Given the description of an element on the screen output the (x, y) to click on. 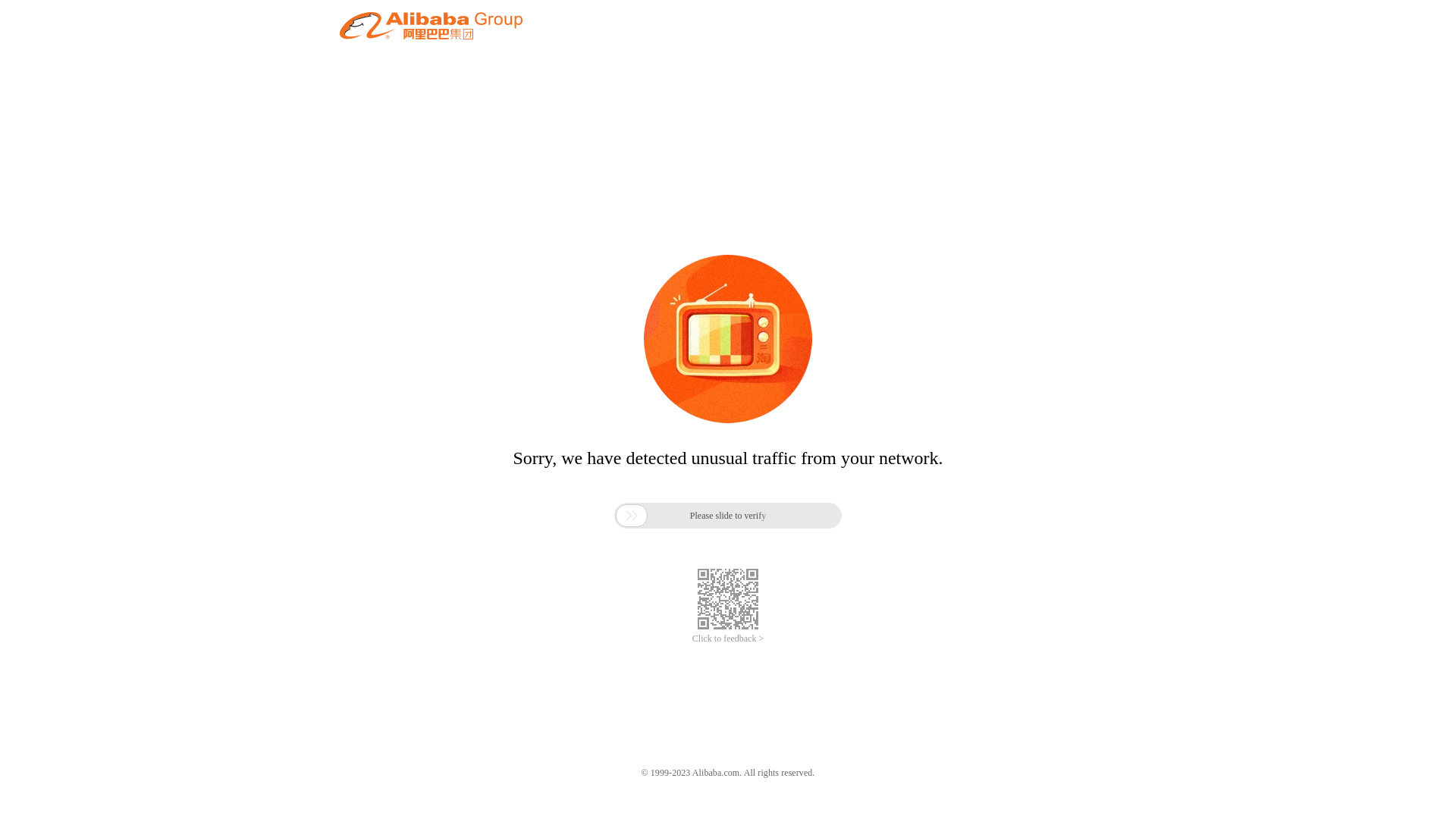
Click to feedback > Element type: text (727, 638)
